Given the description of an element on the screen output the (x, y) to click on. 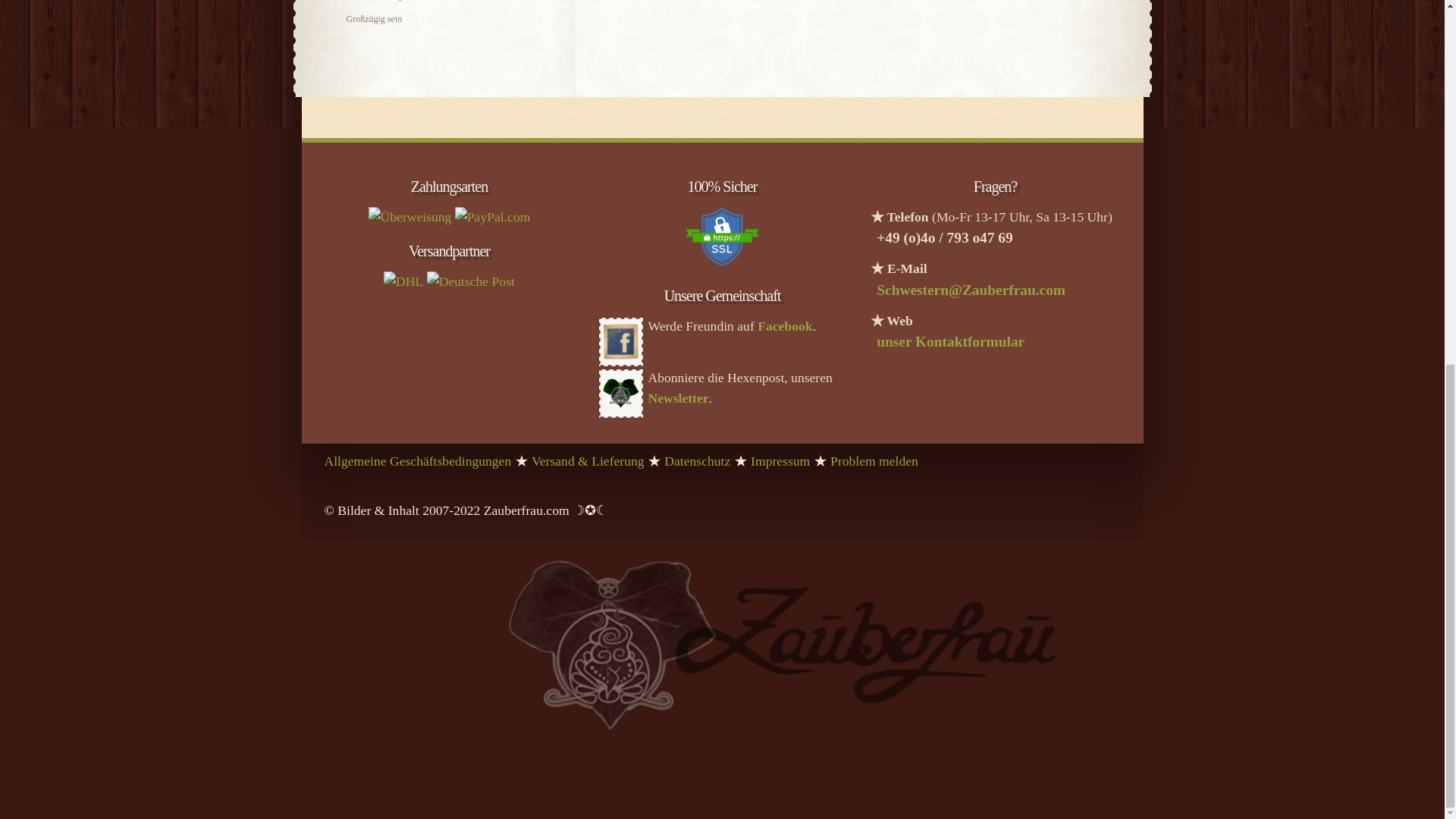
Newsletter (677, 397)
Facebook (784, 325)
